Given the description of an element on the screen output the (x, y) to click on. 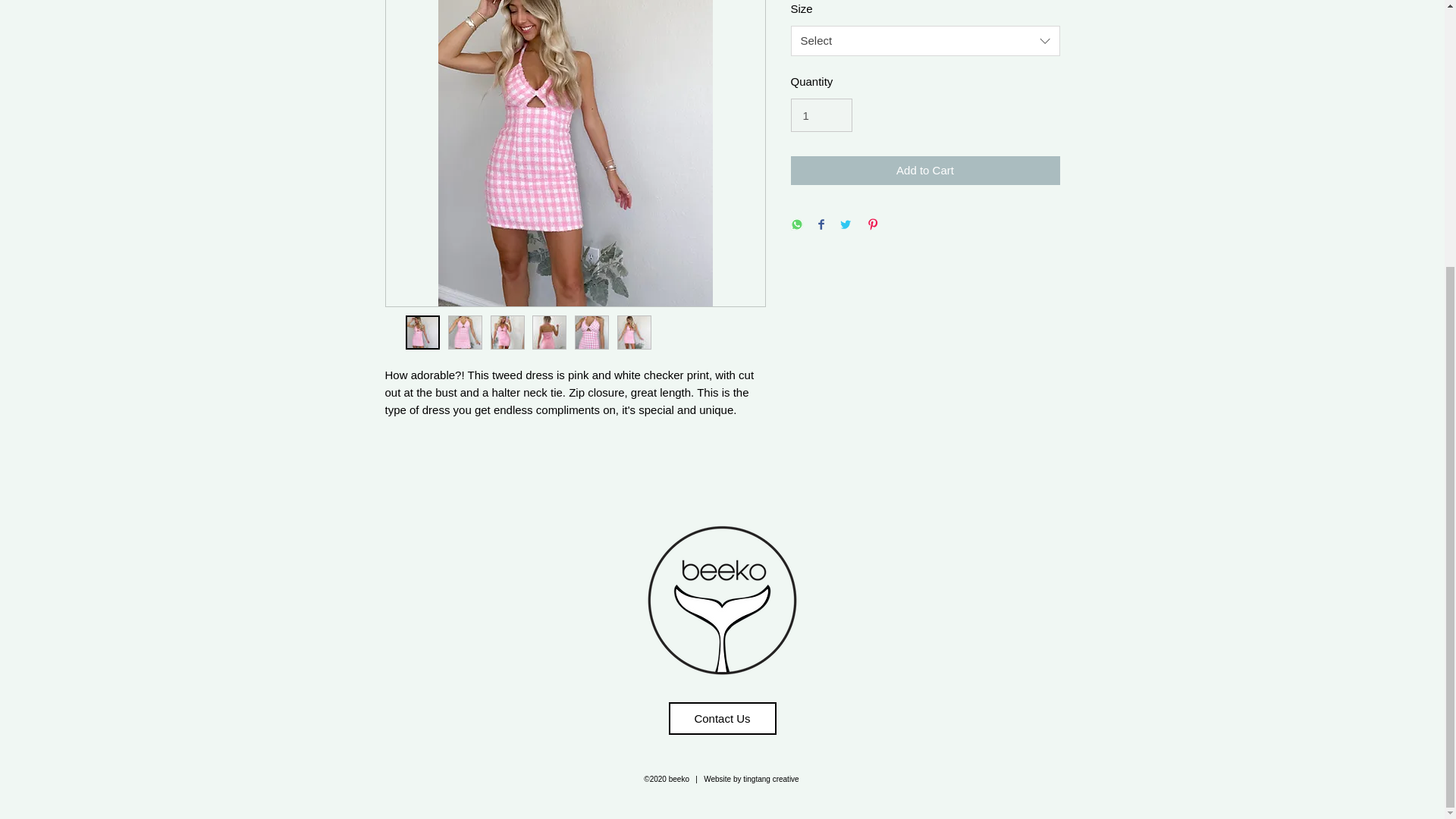
Select (924, 40)
tingtang creative (769, 778)
Contact Us (722, 717)
Add to Cart (924, 170)
1 (820, 114)
